Given the description of an element on the screen output the (x, y) to click on. 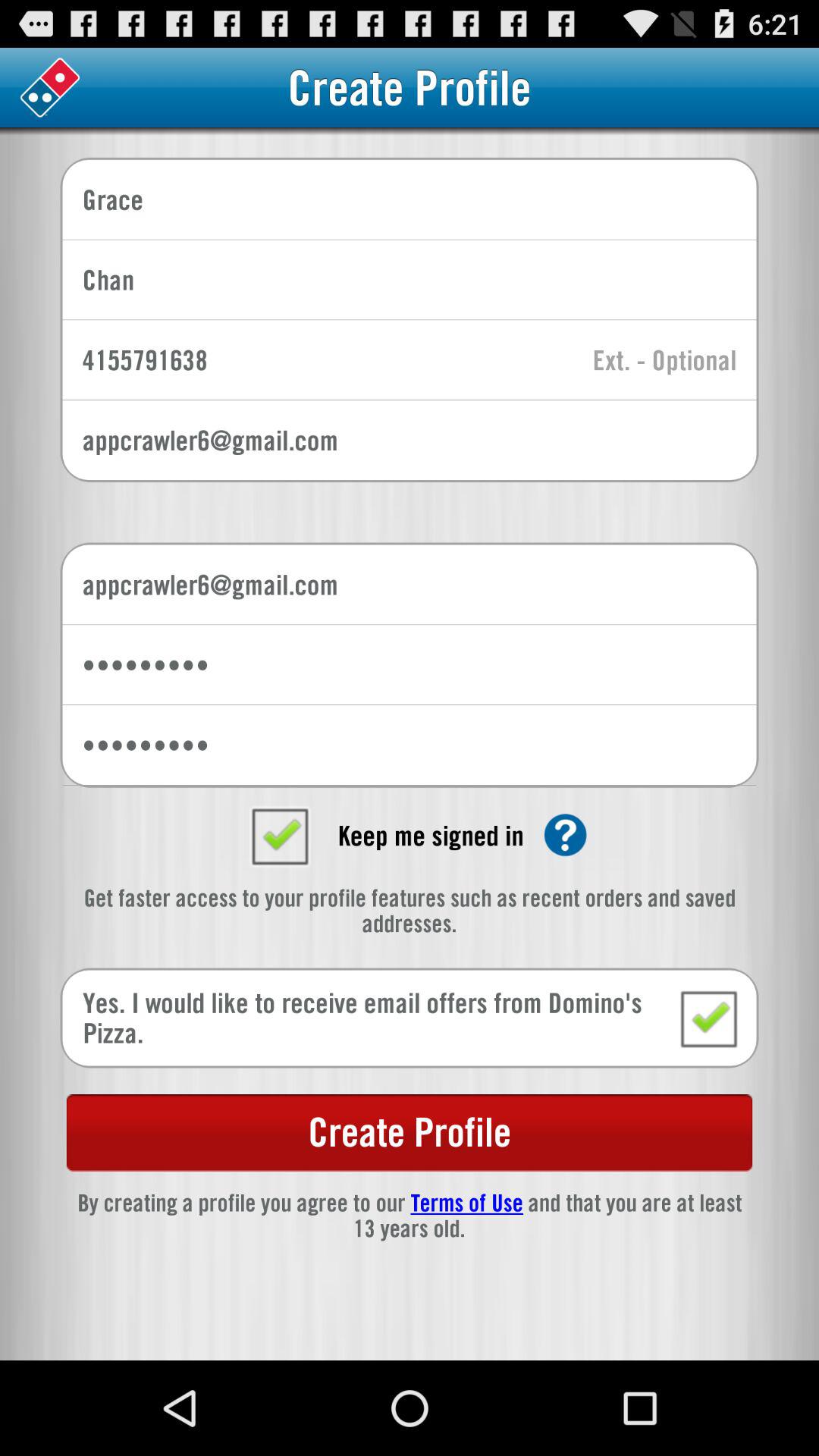
choose the dominoes logo (49, 87)
